Given the description of an element on the screen output the (x, y) to click on. 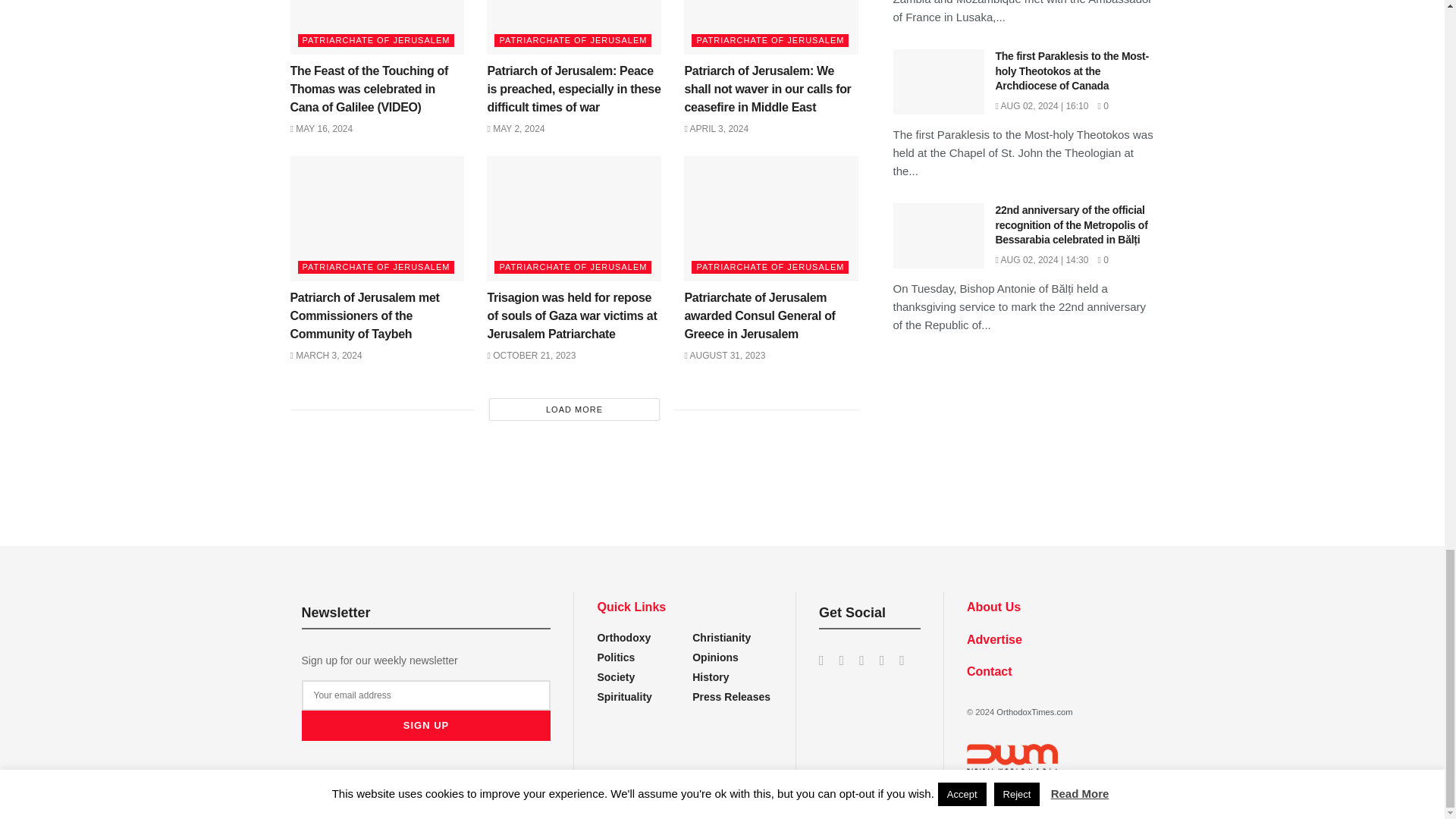
OrthodoxTimes.com (1033, 711)
Sign up (426, 725)
You can add some category description here. (711, 676)
You can add some category description here. (731, 696)
